Given the description of an element on the screen output the (x, y) to click on. 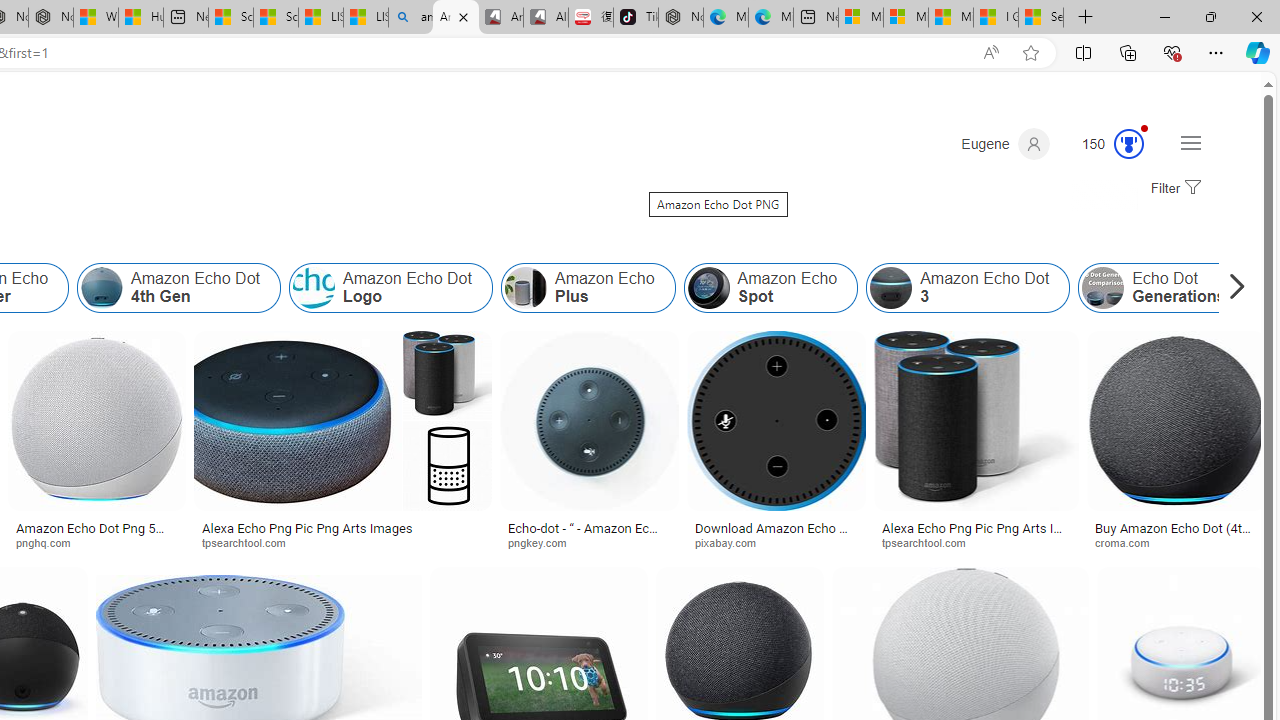
Class: medal-svg-animation (1129, 143)
Alexa Echo Png Pic Png Arts Images (976, 534)
Eugene (1005, 143)
pixabay.com (776, 542)
Amazon Echo Plus (525, 287)
pngkey.com (589, 542)
Amazon Echo Dot 4th Gen (102, 287)
All Cubot phones (545, 17)
